Given the description of an element on the screen output the (x, y) to click on. 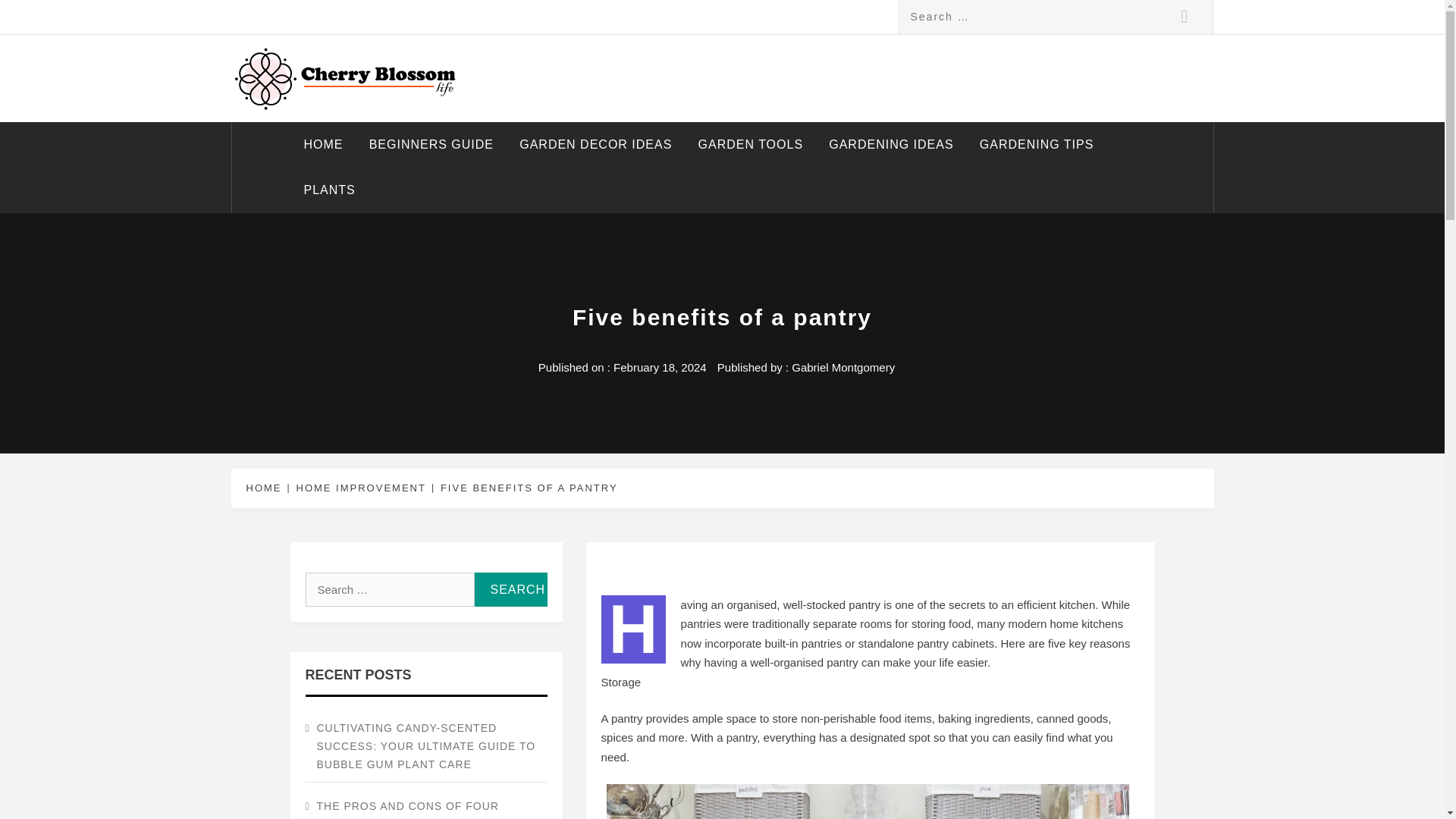
GARDEN DECOR IDEAS (595, 144)
HOME (266, 487)
Gabriel Montgomery (843, 367)
THE PROS AND CONS OF FOUR KITCHEN WORKTOP MATERIALS (425, 804)
pantry (741, 737)
Search (1184, 17)
GARDEN TOOLS (751, 144)
GARDENING TIPS (1036, 144)
Cherry Blossom (354, 70)
